Given the description of an element on the screen output the (x, y) to click on. 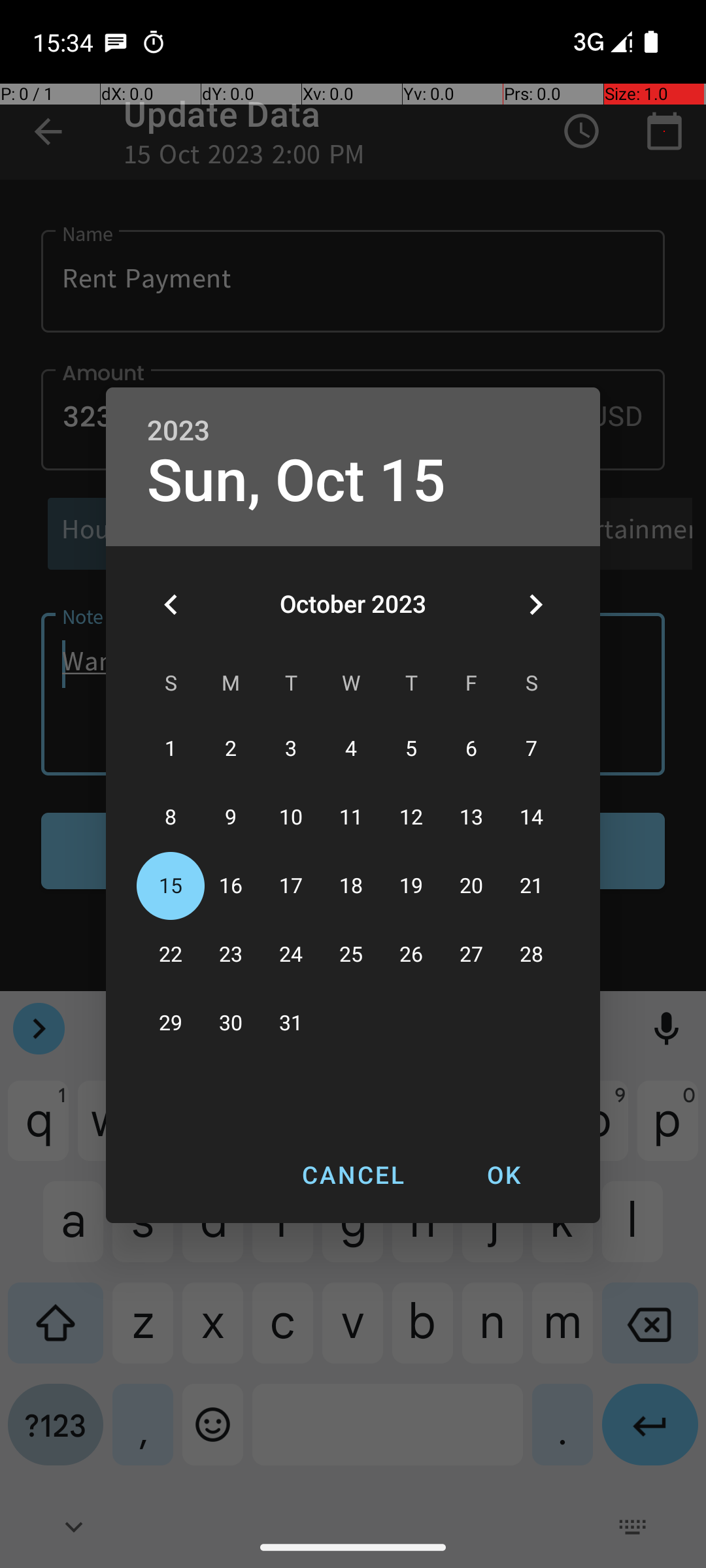
SMS Messenger notification: Sophie Gonzalez Element type: android.widget.ImageView (115, 41)
